Given the description of an element on the screen output the (x, y) to click on. 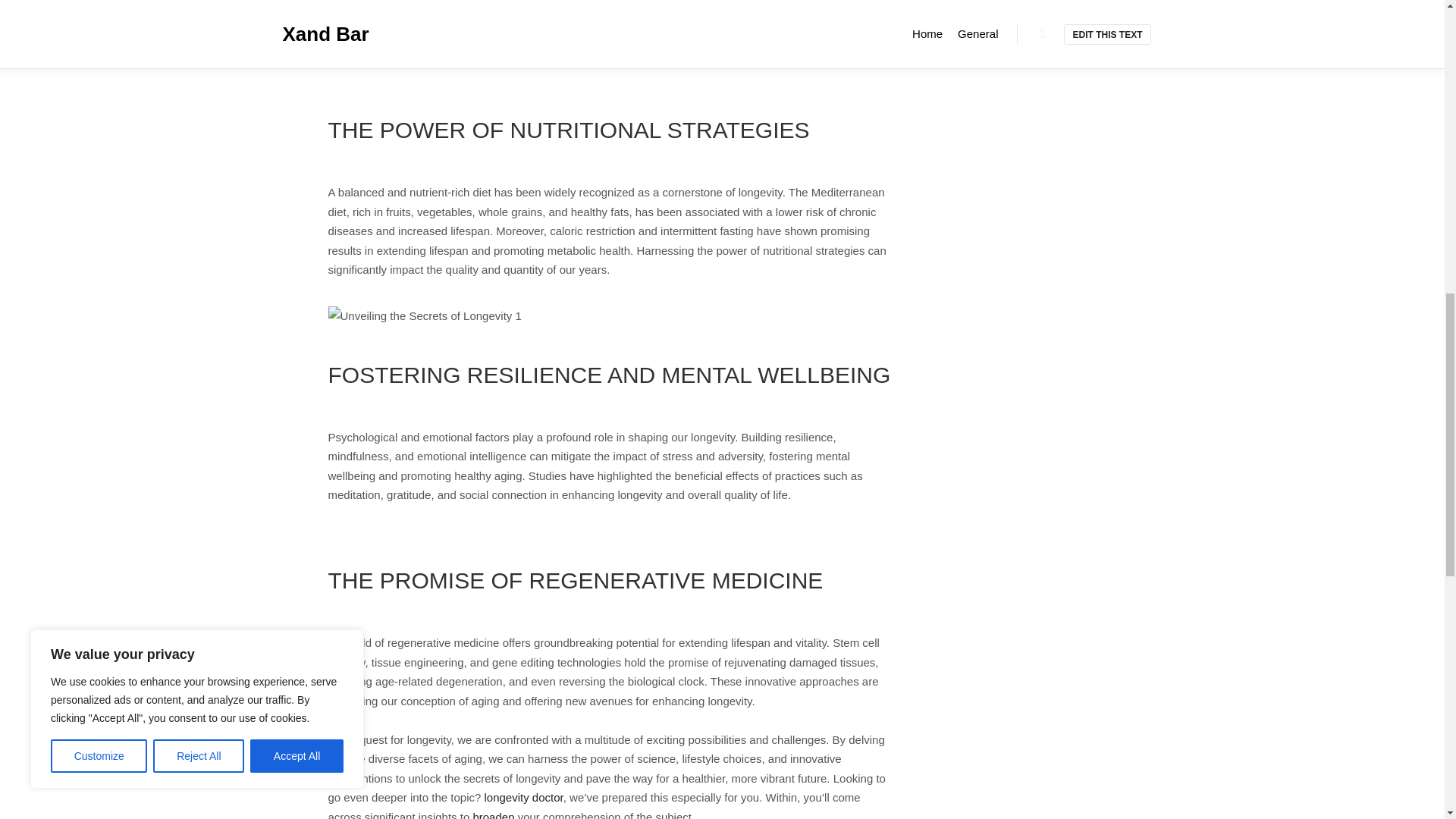
recommend (357, 24)
longevity doctor (522, 797)
broaden (492, 814)
Check out this in-depth study (609, 34)
